Given the description of an element on the screen output the (x, y) to click on. 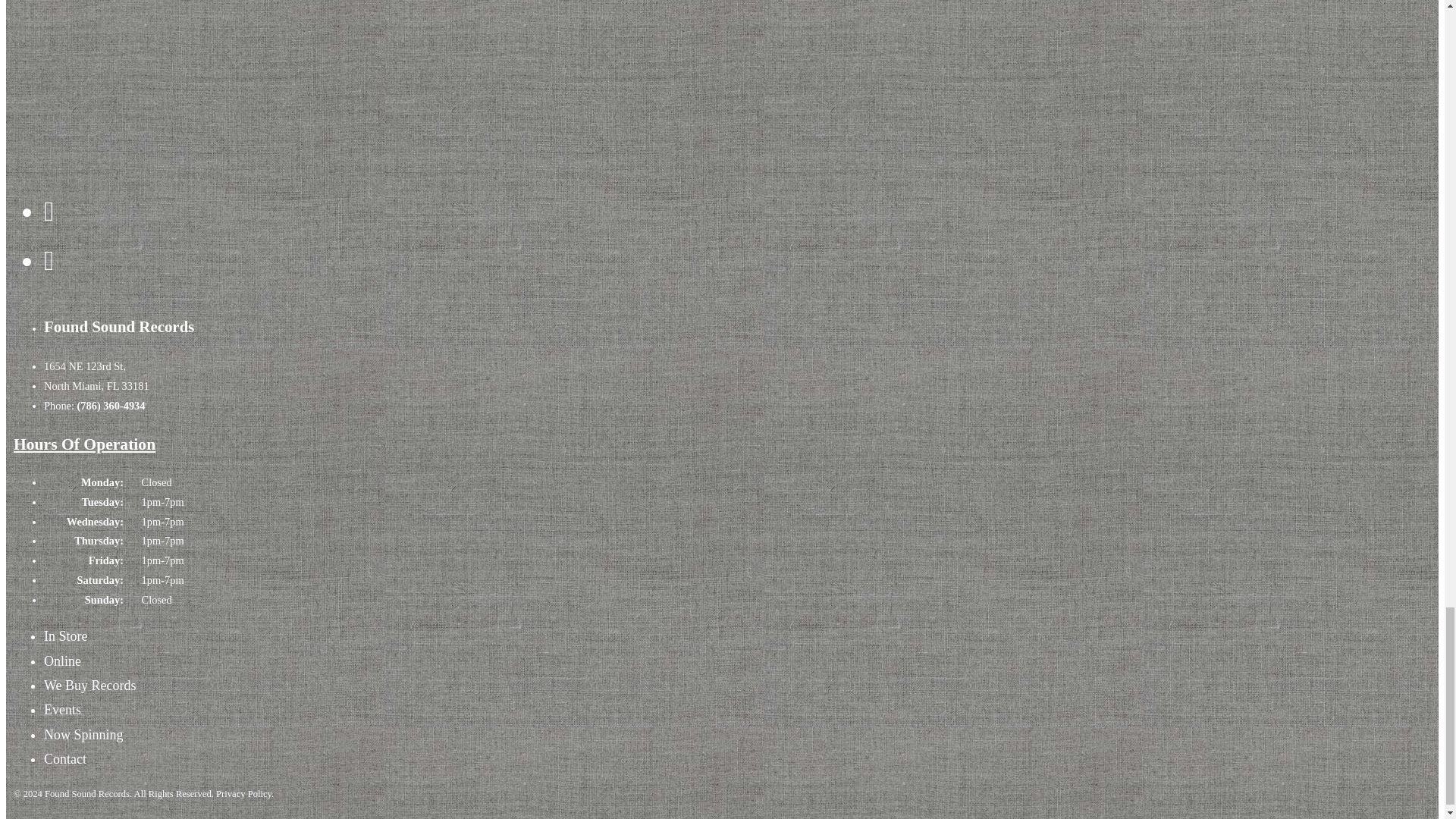
In Store (65, 635)
Privacy Policy. (244, 792)
We Buy Records (89, 685)
Events (62, 709)
Now Spinning (83, 734)
Contact (64, 758)
Online (62, 661)
